Given the description of an element on the screen output the (x, y) to click on. 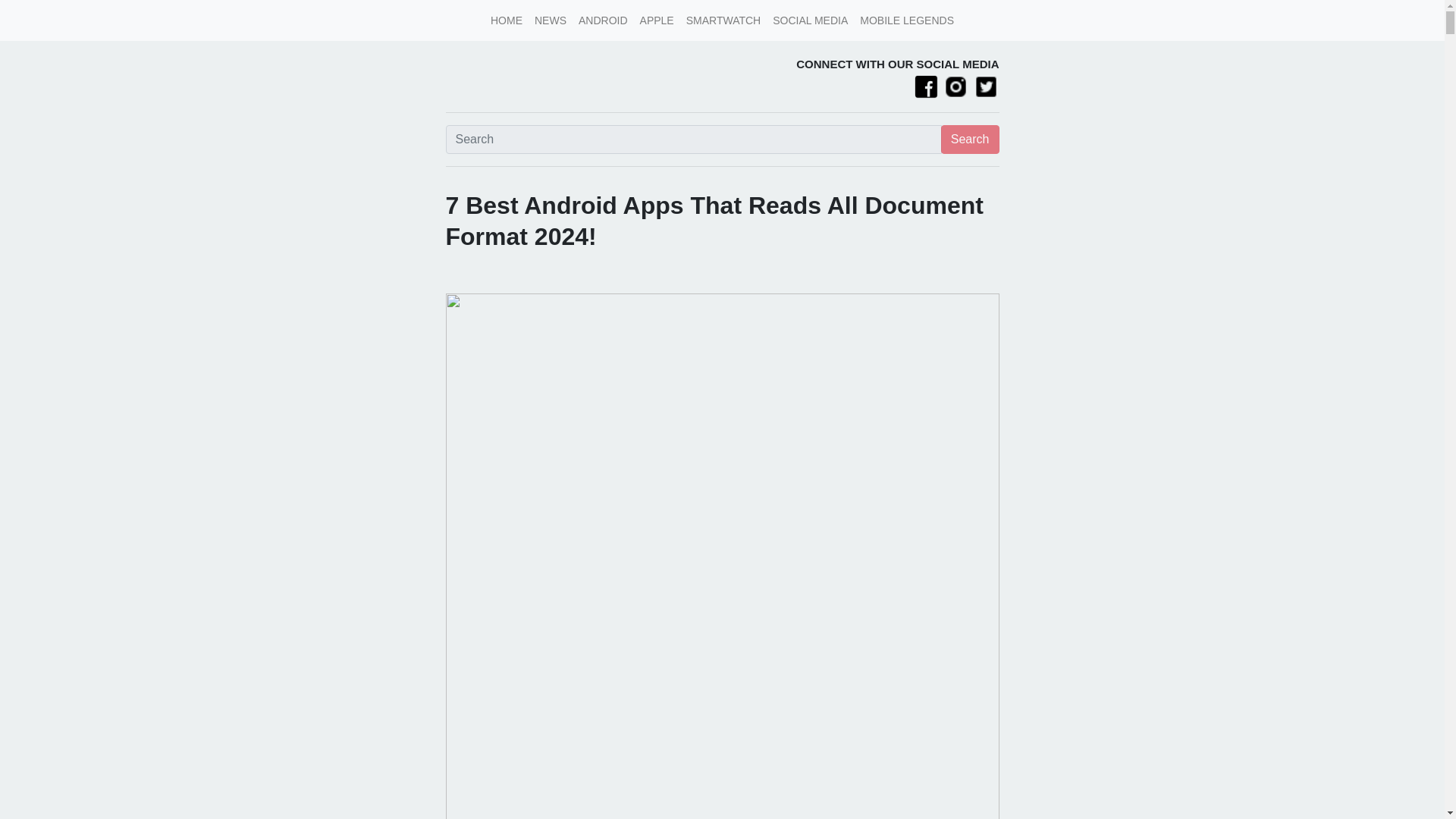
Social Media (810, 20)
ANDROID (602, 20)
News (550, 20)
Android (602, 20)
Smartwatch (723, 20)
HOME (506, 20)
Search (969, 138)
APPLE (656, 20)
MOBILE LEGENDS (906, 20)
SMARTWATCH (723, 20)
